Given the description of an element on the screen output the (x, y) to click on. 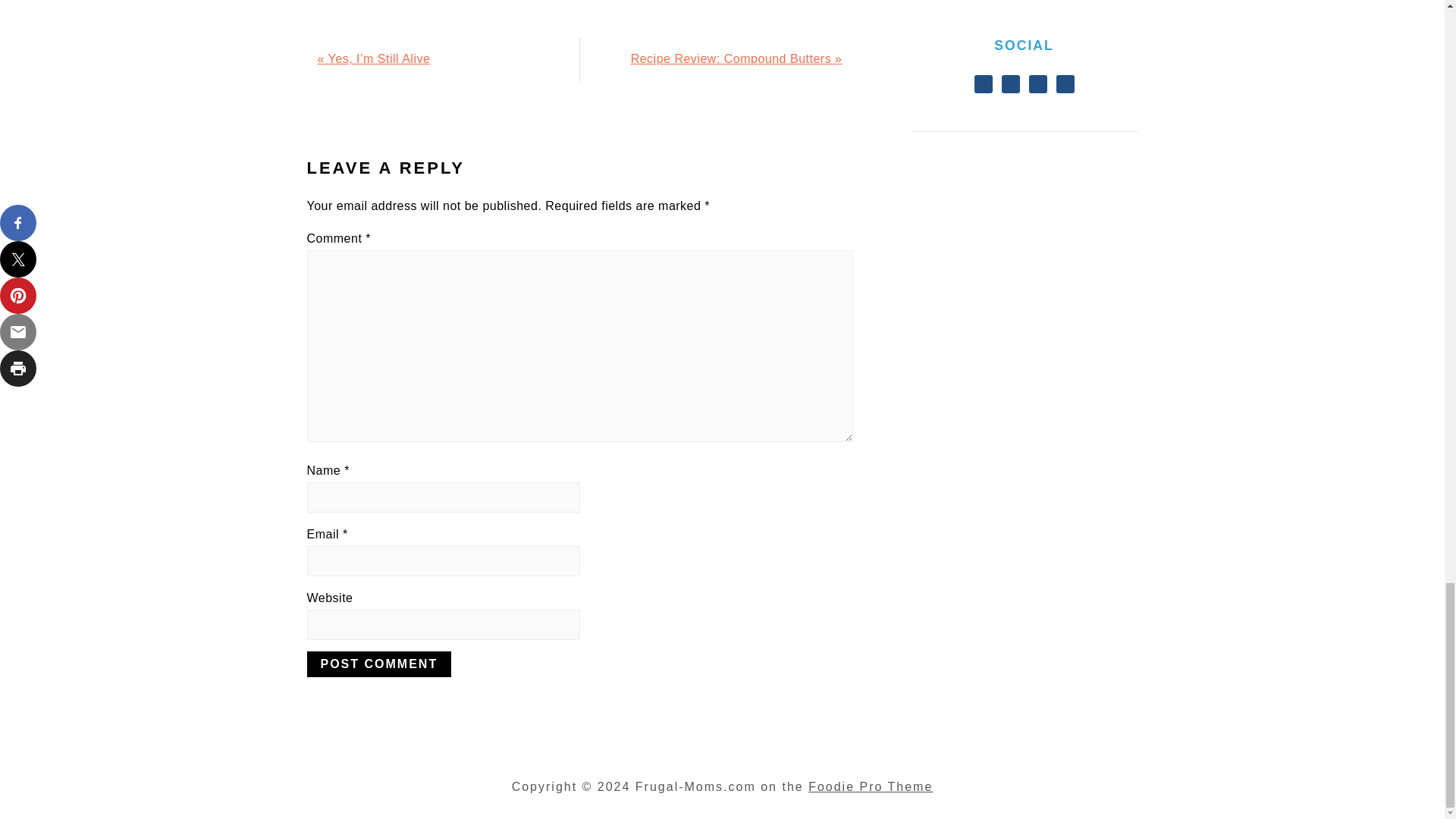
Post Comment (378, 664)
